Given the description of an element on the screen output the (x, y) to click on. 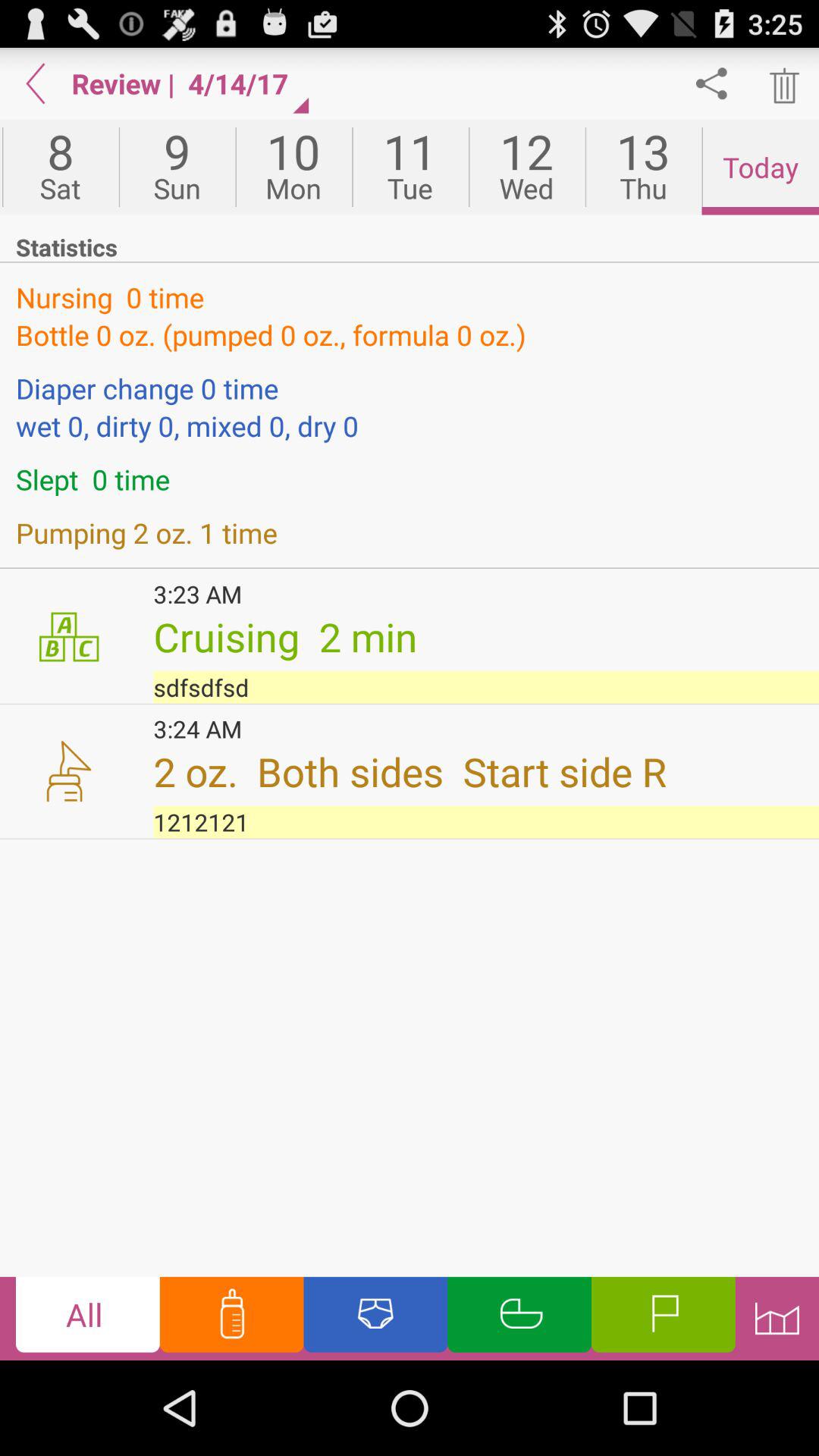
choose the app above the statistics app (293, 166)
